Given the description of an element on the screen output the (x, y) to click on. 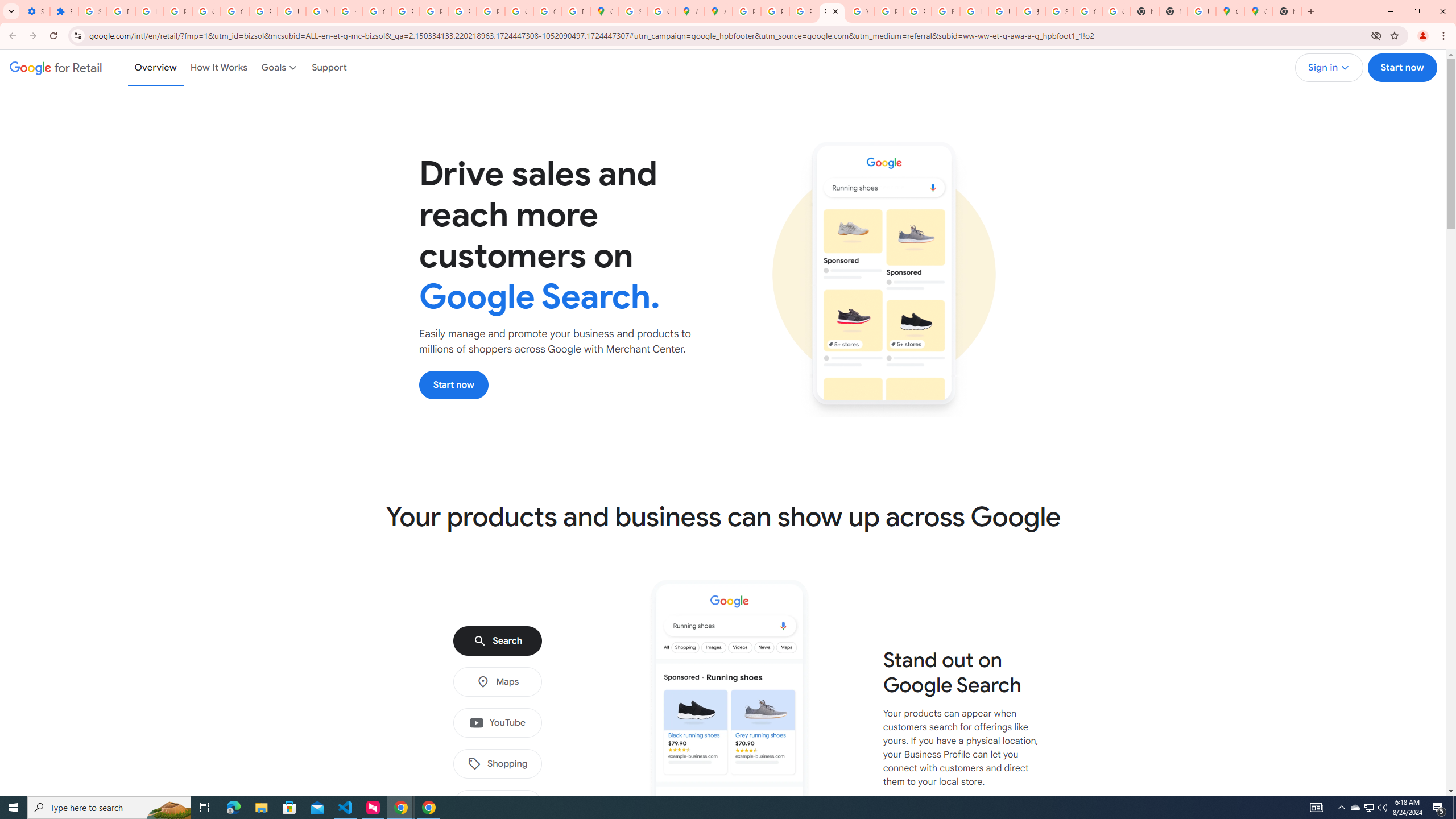
Shopping (496, 763)
New Tab (1173, 11)
How It Works (218, 67)
Privacy Help Center - Policies Help (803, 11)
Settings - On startup (35, 11)
How It Works (218, 67)
New Tab (1287, 11)
